Given the description of an element on the screen output the (x, y) to click on. 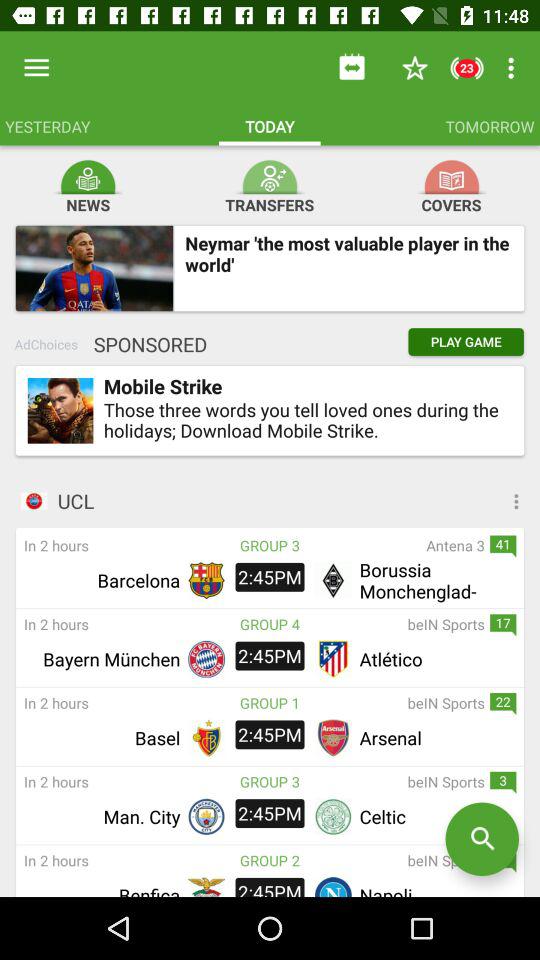
select item above covers (451, 178)
